Given the description of an element on the screen output the (x, y) to click on. 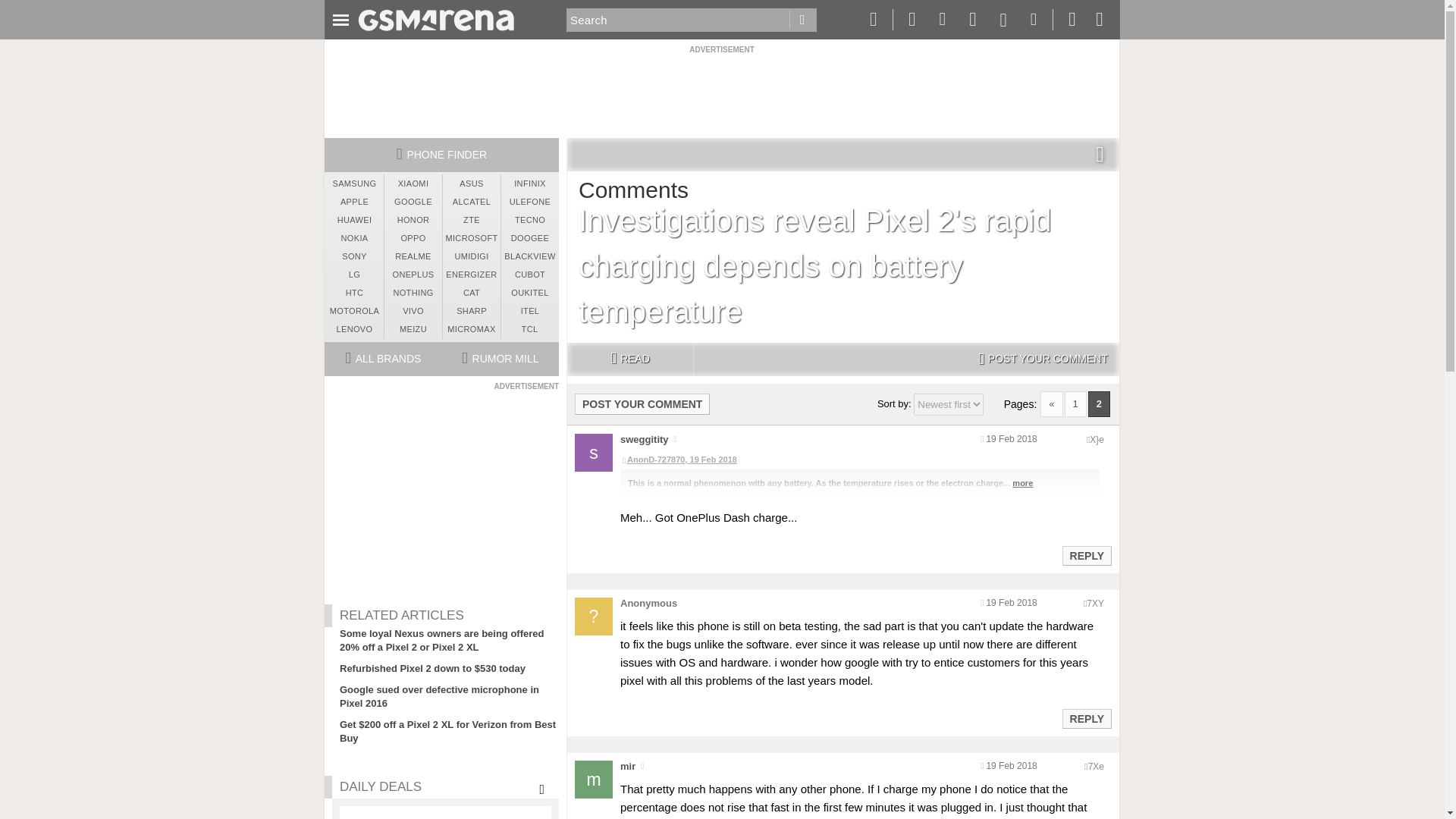
more (1021, 482)
Go (802, 19)
POST YOUR COMMENT (642, 403)
Reply to this post (1086, 718)
REPLY (1086, 556)
READ (630, 359)
POST YOUR COMMENT (1042, 359)
Encoded anonymized location (1096, 439)
Sort comments by (949, 404)
Go (802, 19)
Reply to this post (1086, 555)
Encoded anonymized location (1094, 603)
Encoded anonymized location (1095, 766)
sweggitity (644, 439)
AnonD-727870, 19 Feb 2018 (859, 459)
